Given the description of an element on the screen output the (x, y) to click on. 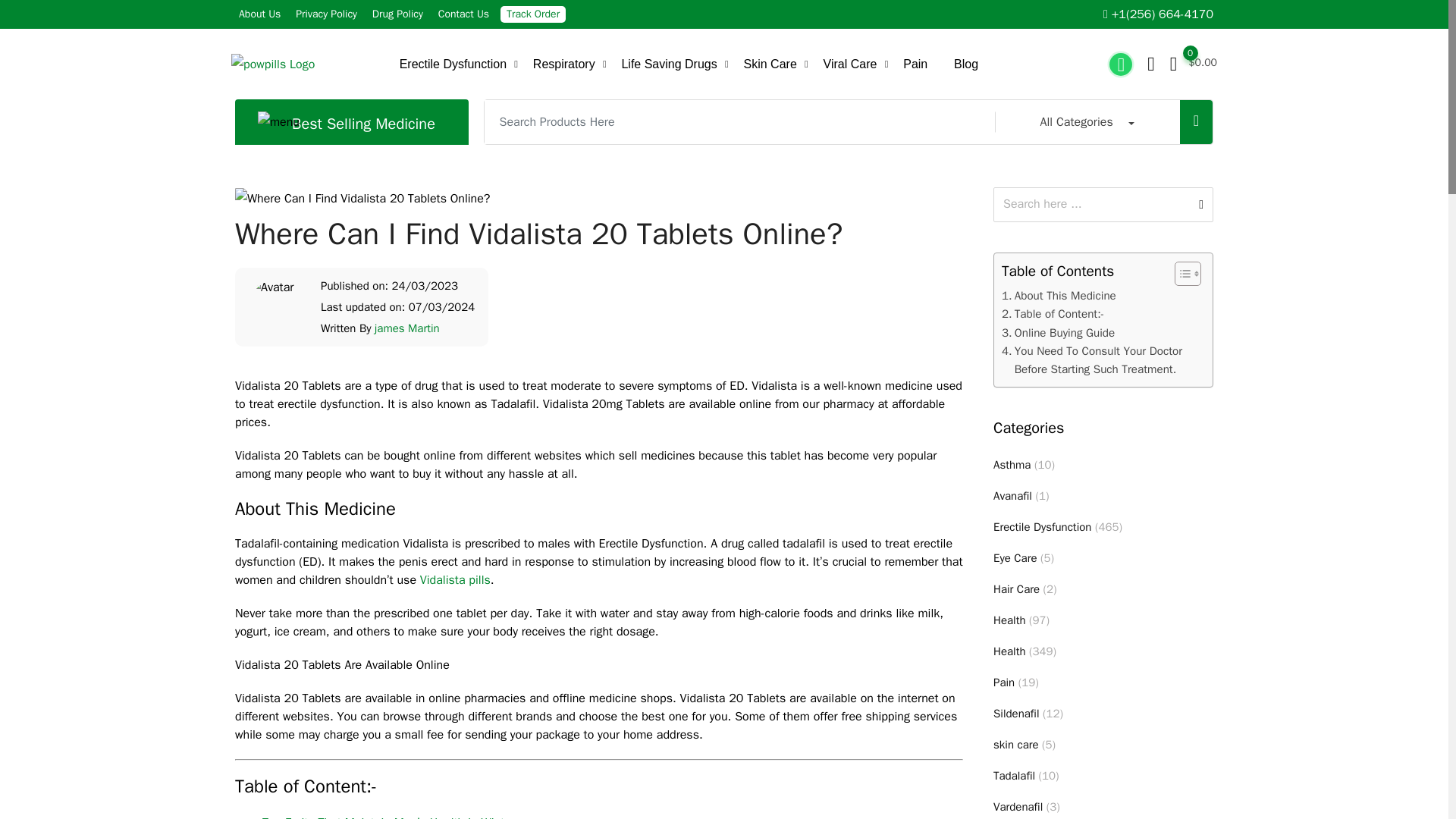
Contact Us (463, 13)
Search (1091, 204)
Track Order (532, 13)
Table of Content:- (1052, 313)
Privacy Policy (325, 13)
Life Saving Drugs (669, 63)
Erectile Dysfunction (453, 63)
Drug Policy (397, 13)
About Us (259, 13)
Online Buying Guide (1058, 332)
